Given the description of an element on the screen output the (x, y) to click on. 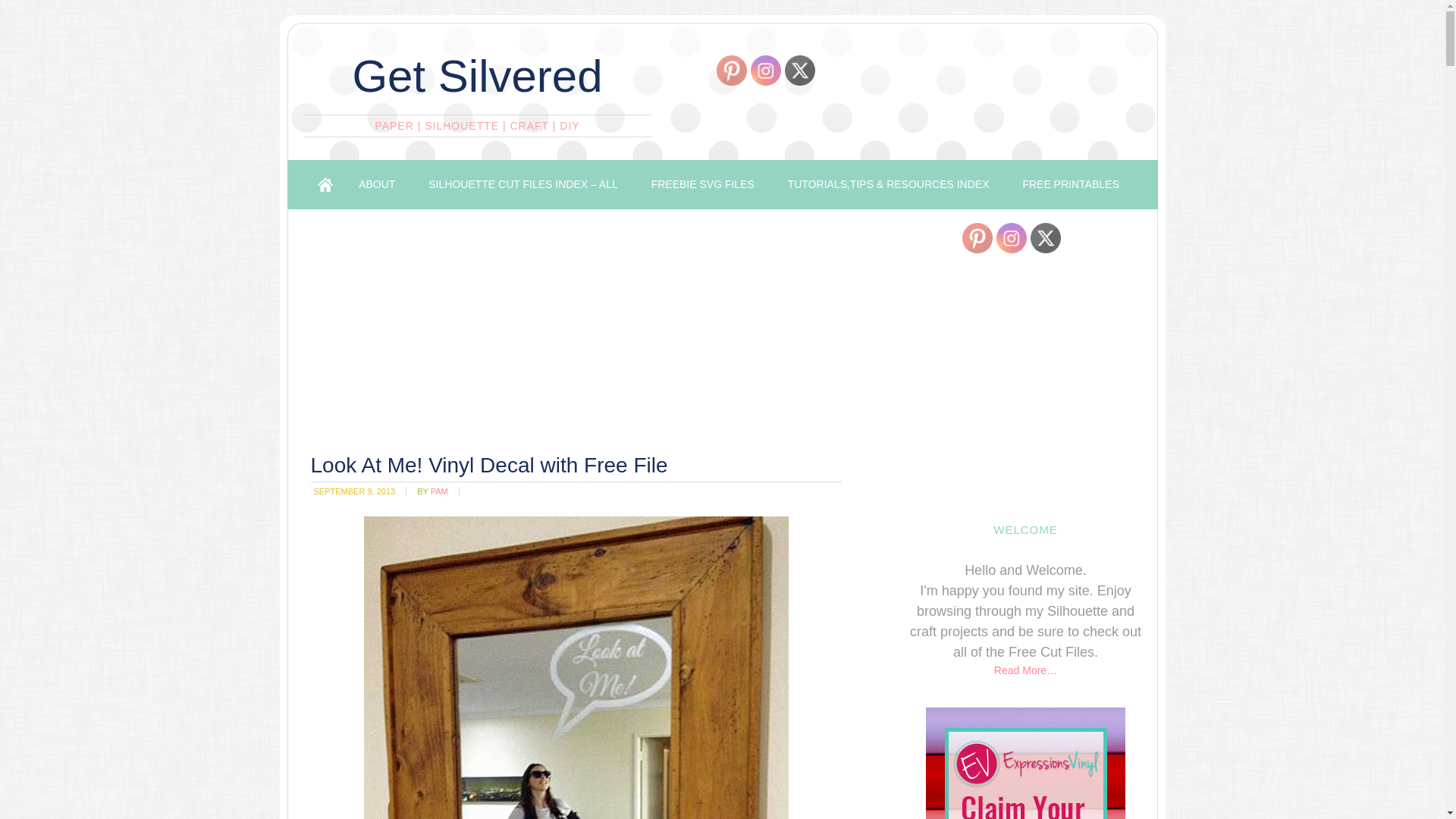
ABOUT (376, 184)
Twitter (799, 70)
Get Silvered (477, 75)
FREE PRINTABLES (1070, 184)
Free SVG Files (703, 184)
Instagram (765, 70)
FREEBIE SVG FILES (703, 184)
Pinterest (731, 70)
Advertisement (583, 336)
PAM (439, 491)
